Given the description of an element on the screen output the (x, y) to click on. 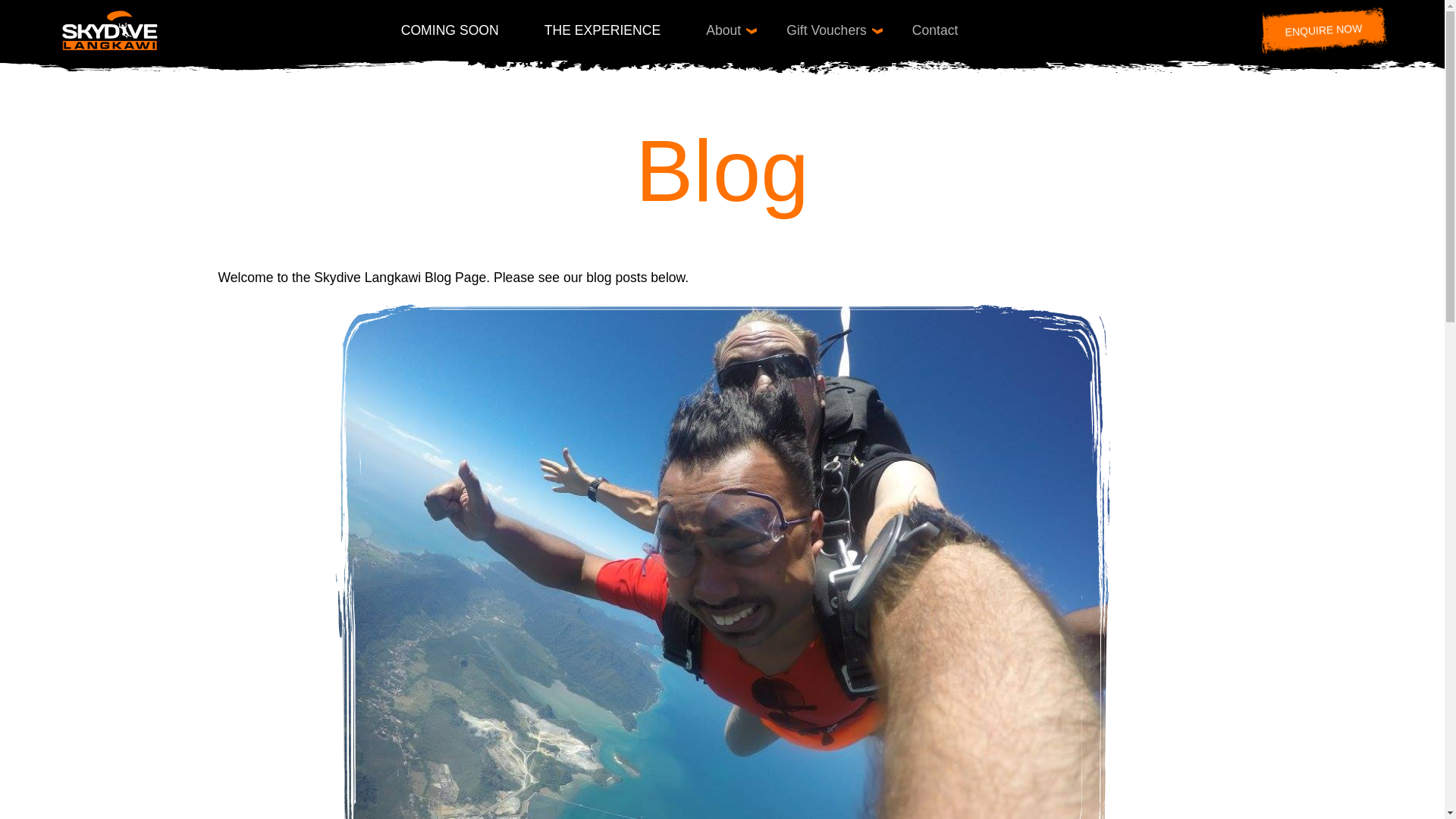
COMING SOON (449, 30)
About (722, 30)
Contact (935, 30)
ENQUIRE NOW (1321, 28)
Gift Vouchers (825, 30)
THE EXPERIENCE (602, 30)
